Given the description of an element on the screen output the (x, y) to click on. 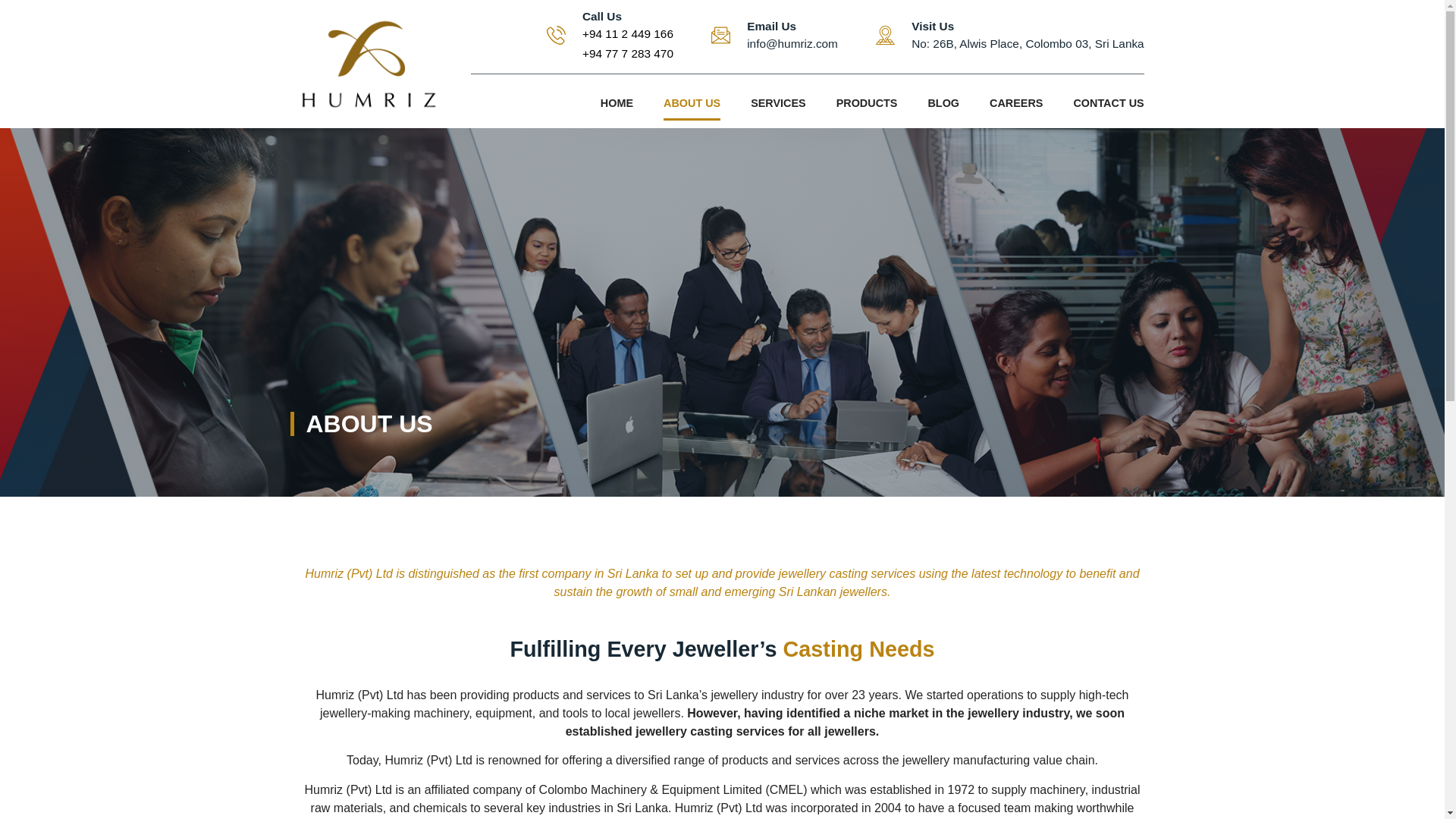
SERVICES (778, 102)
BLOG (943, 102)
PRODUCTS (866, 102)
CAREERS (1016, 102)
ABOUT US (691, 102)
HOME (1010, 34)
CONTACT US (616, 102)
